Given the description of an element on the screen output the (x, y) to click on. 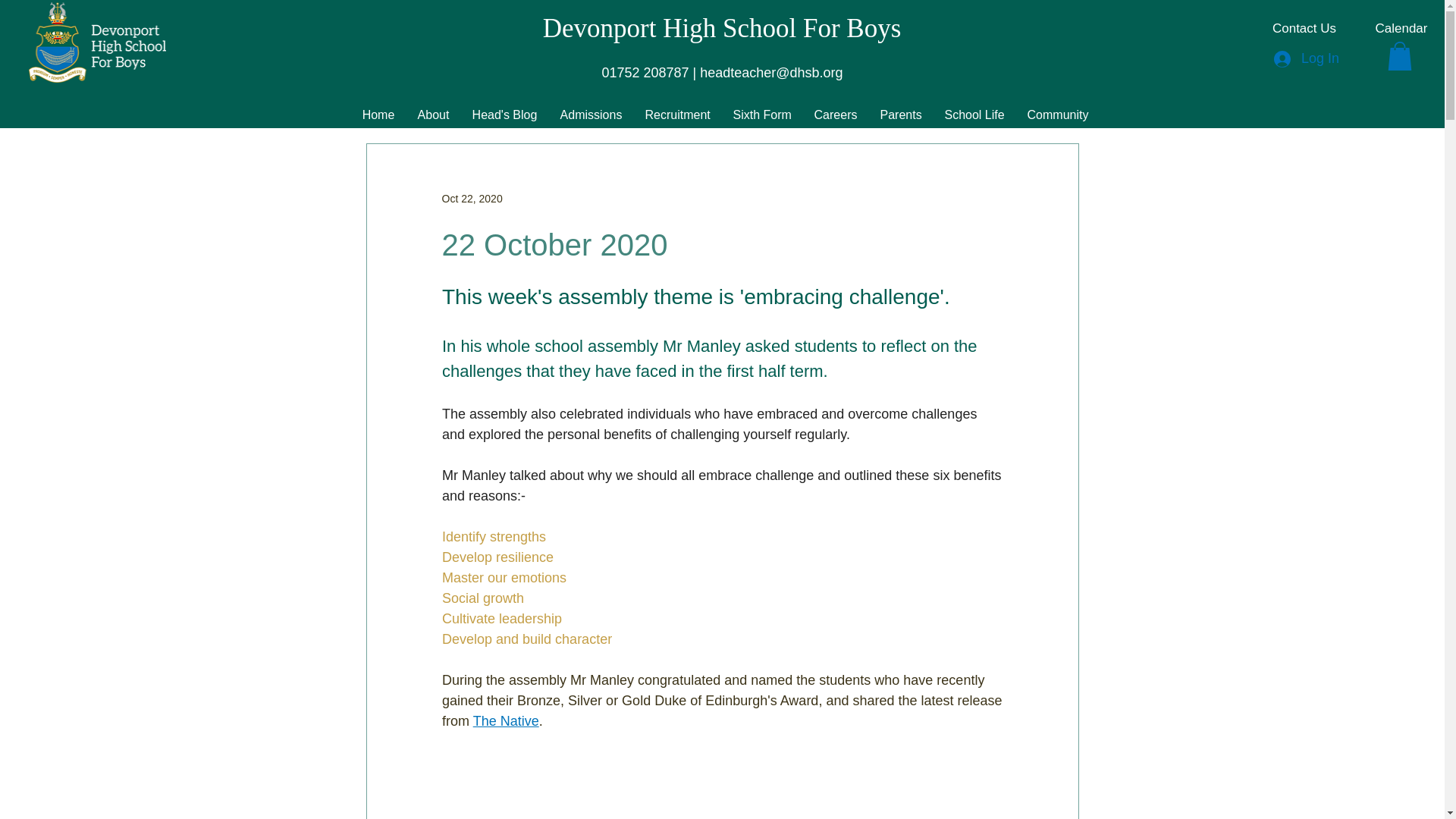
Devenport High School For Boys logo (97, 42)
Parents (901, 115)
Log In (1306, 58)
Calendar (1400, 28)
Home (378, 115)
Head's Blog (504, 115)
Recruitment (677, 115)
Contact Us (1304, 28)
Sixth Form (762, 115)
Oct 22, 2020 (471, 198)
About (433, 115)
Admissions (590, 115)
Careers (834, 115)
